Given the description of an element on the screen output the (x, y) to click on. 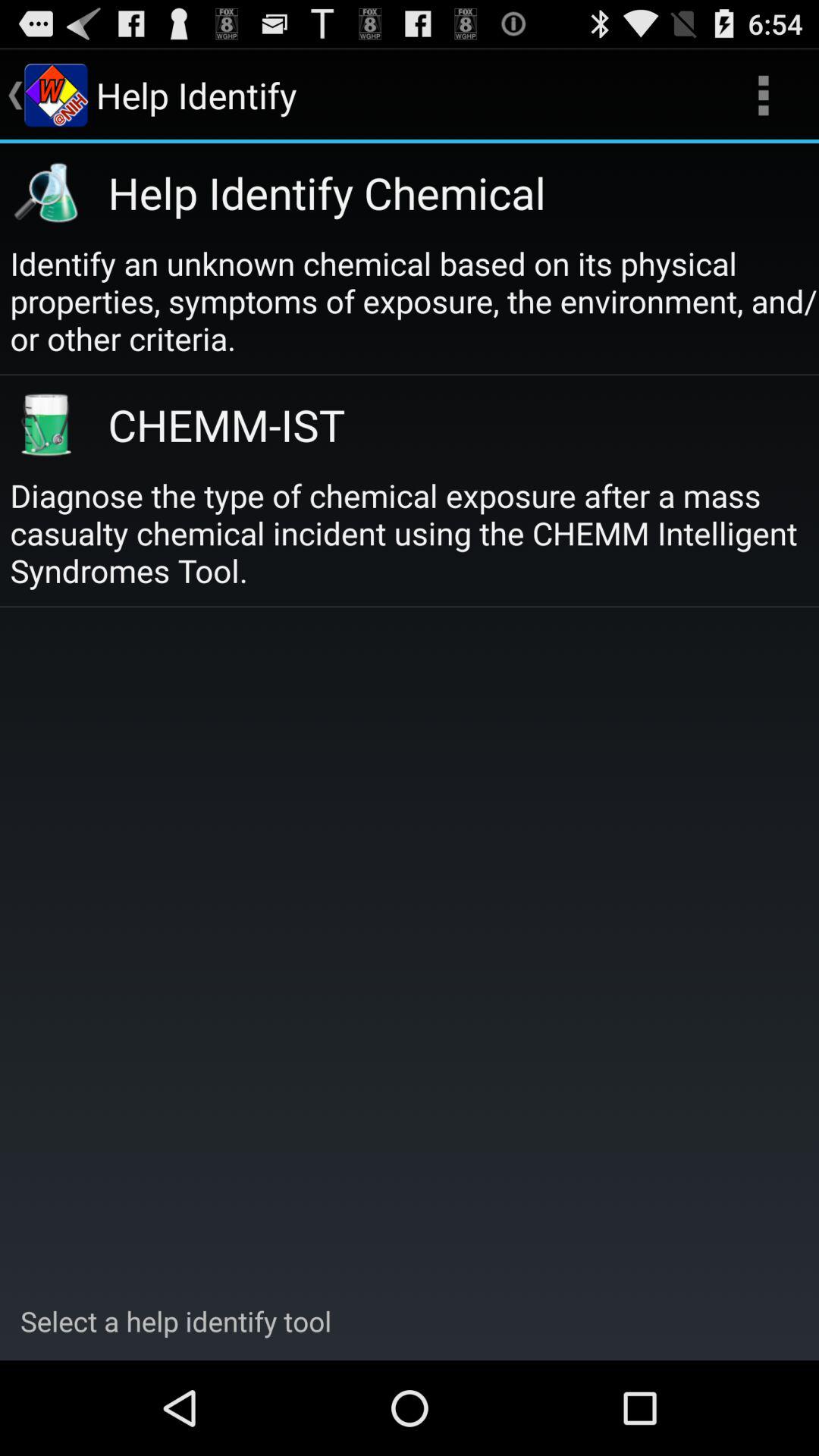
flip until the chemm-ist item (446, 424)
